Given the description of an element on the screen output the (x, y) to click on. 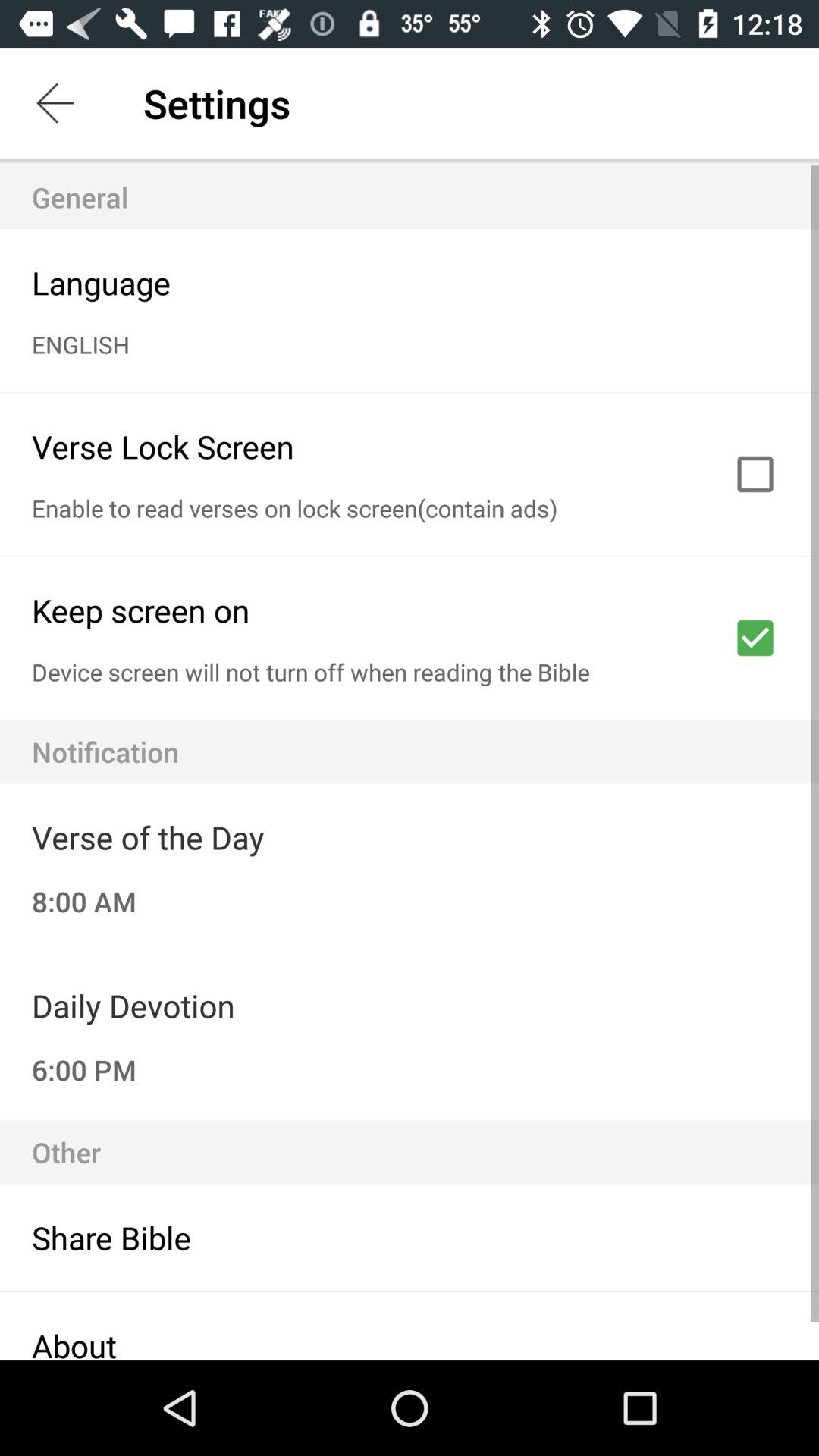
tick box option (755, 474)
